Given the description of an element on the screen output the (x, y) to click on. 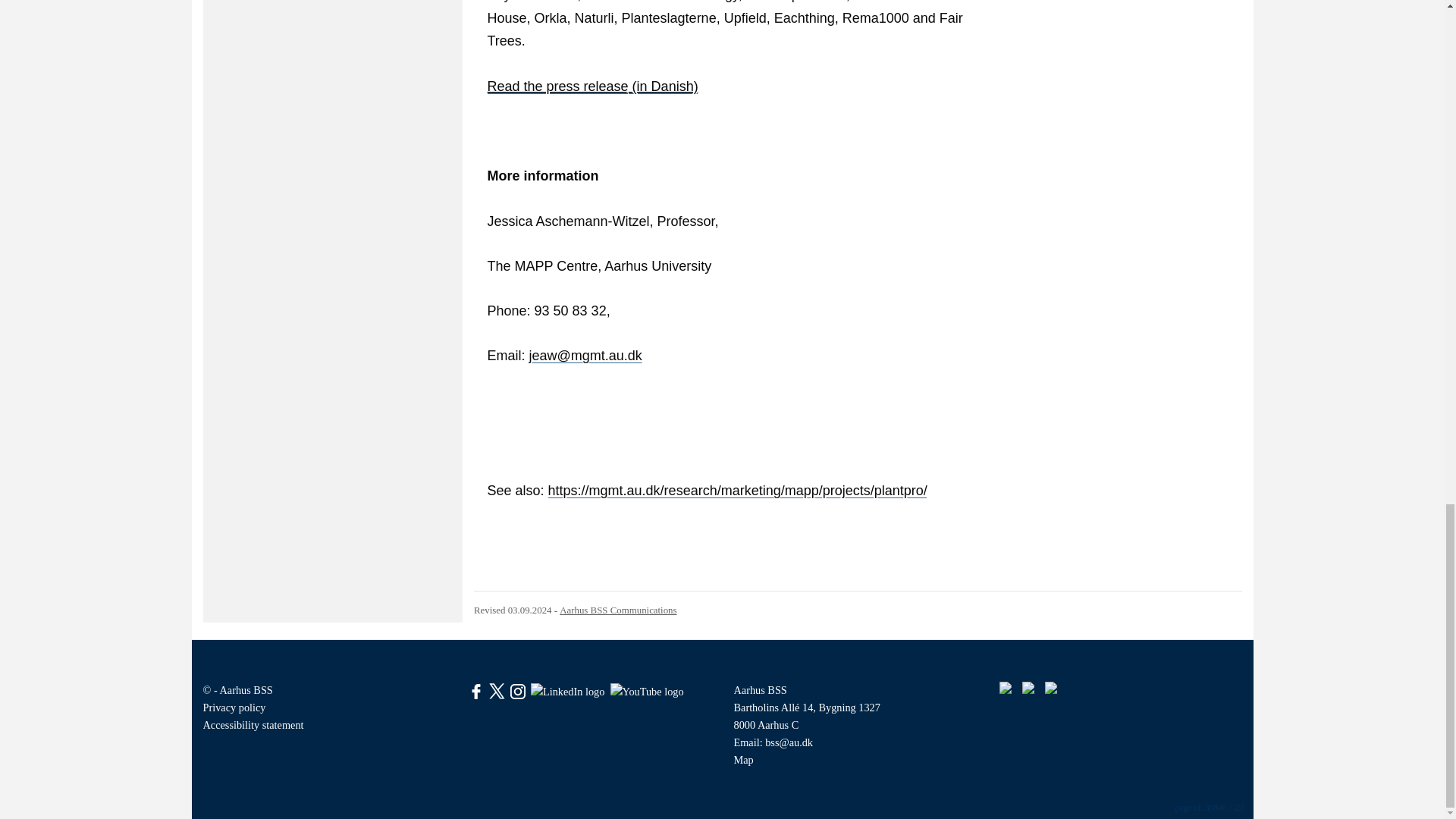
Aarhus BSS on Facebook (475, 689)
Aarhus BSS on Instagram (518, 689)
Aarhus BSS on Twitter (497, 689)
Aarhus BSS on LinkedIn (567, 689)
Aarhus BSS on YouTube (647, 689)
